Given the description of an element on the screen output the (x, y) to click on. 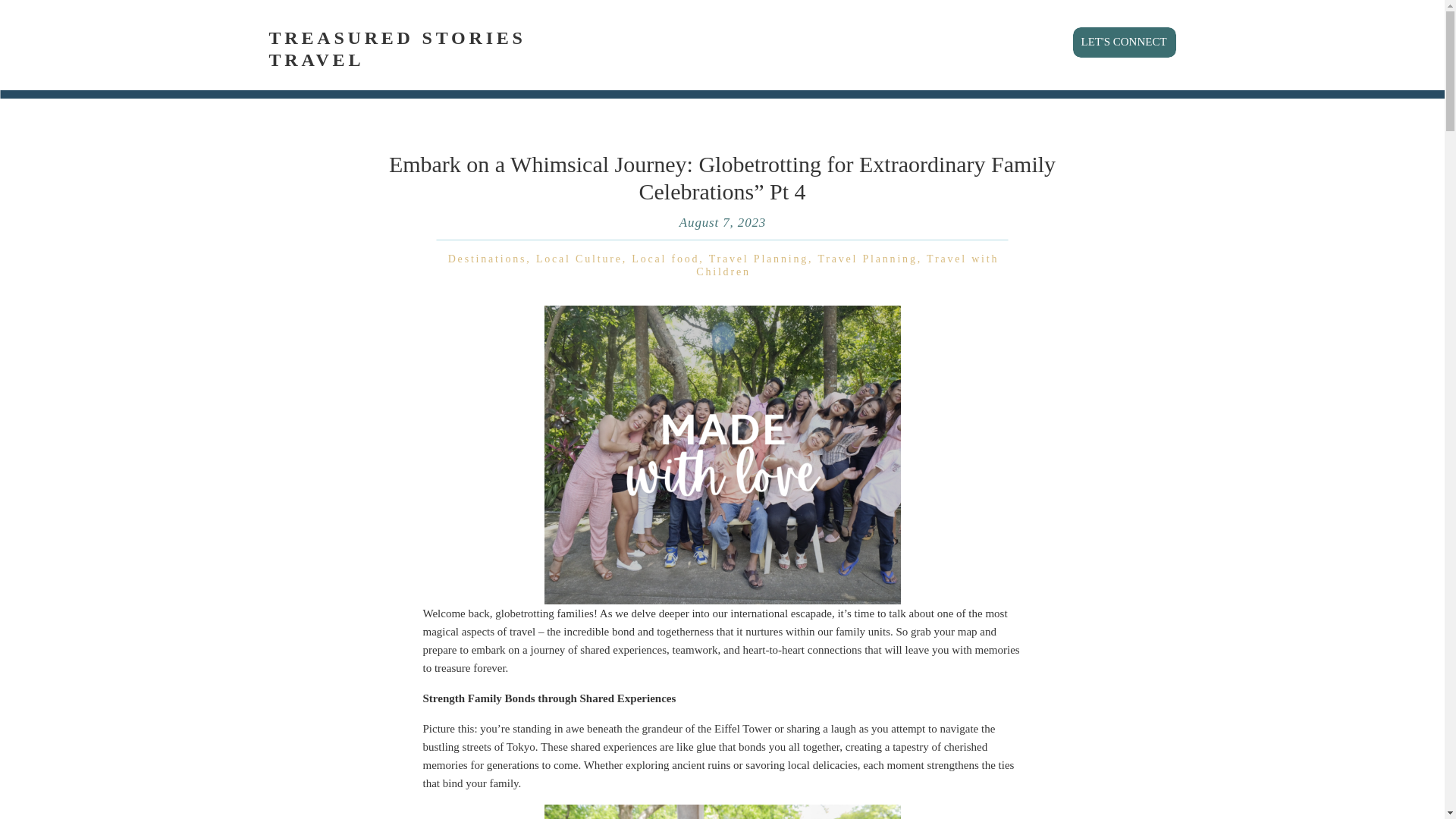
Local food (664, 258)
LET'S CONNECT (1127, 39)
Local Culture (579, 258)
Destinations (487, 258)
Travel Planning (866, 258)
SCHEDULE A CALL (1098, 17)
Travel with Children (846, 265)
Travel Planning (758, 258)
